Given the description of an element on the screen output the (x, y) to click on. 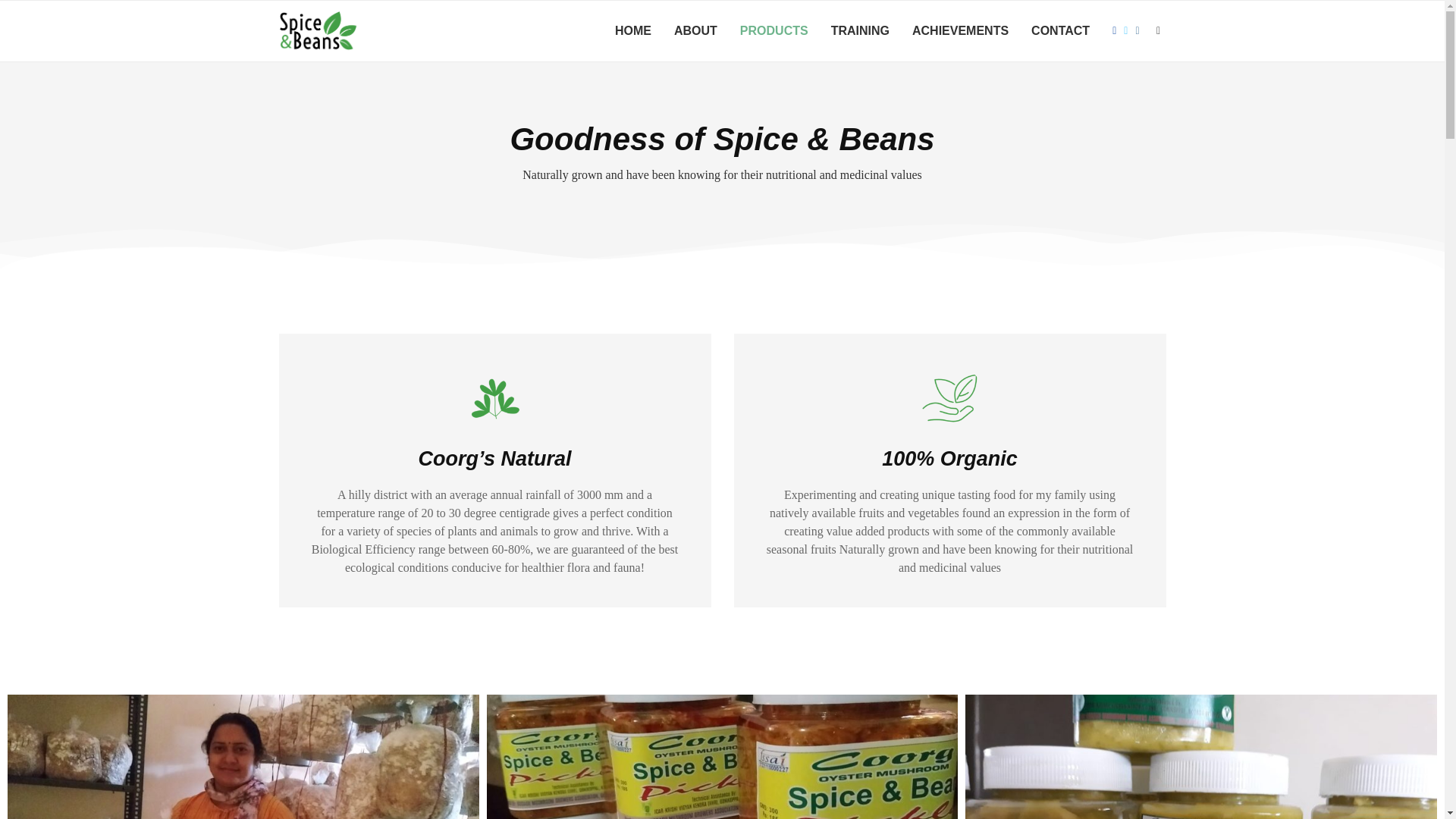
CONTACT (1059, 30)
ACHIEVEMENTS (960, 30)
TRAINING (860, 30)
PRODUCTS (773, 30)
